Given the description of an element on the screen output the (x, y) to click on. 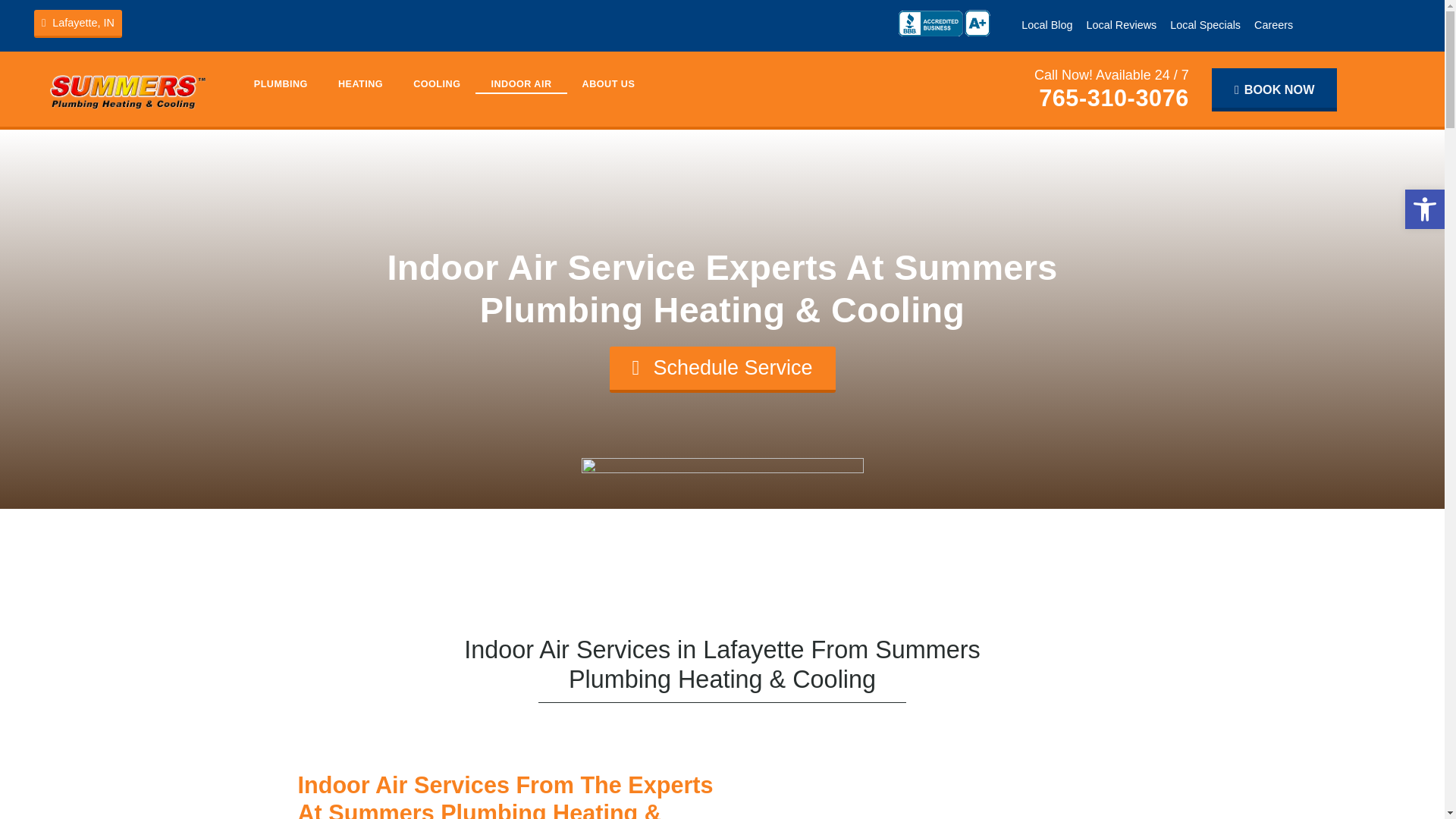
HEATING (360, 84)
Local Specials (1205, 24)
Lafayette, IN (77, 23)
INDOOR AIR (521, 84)
COOLING (436, 84)
Local Blog (1046, 24)
PLUMBING (280, 84)
Accessibility Tools (1424, 209)
Careers (1273, 24)
Local Reviews (1120, 24)
Accessibility Tools (1424, 209)
